Given the description of an element on the screen output the (x, y) to click on. 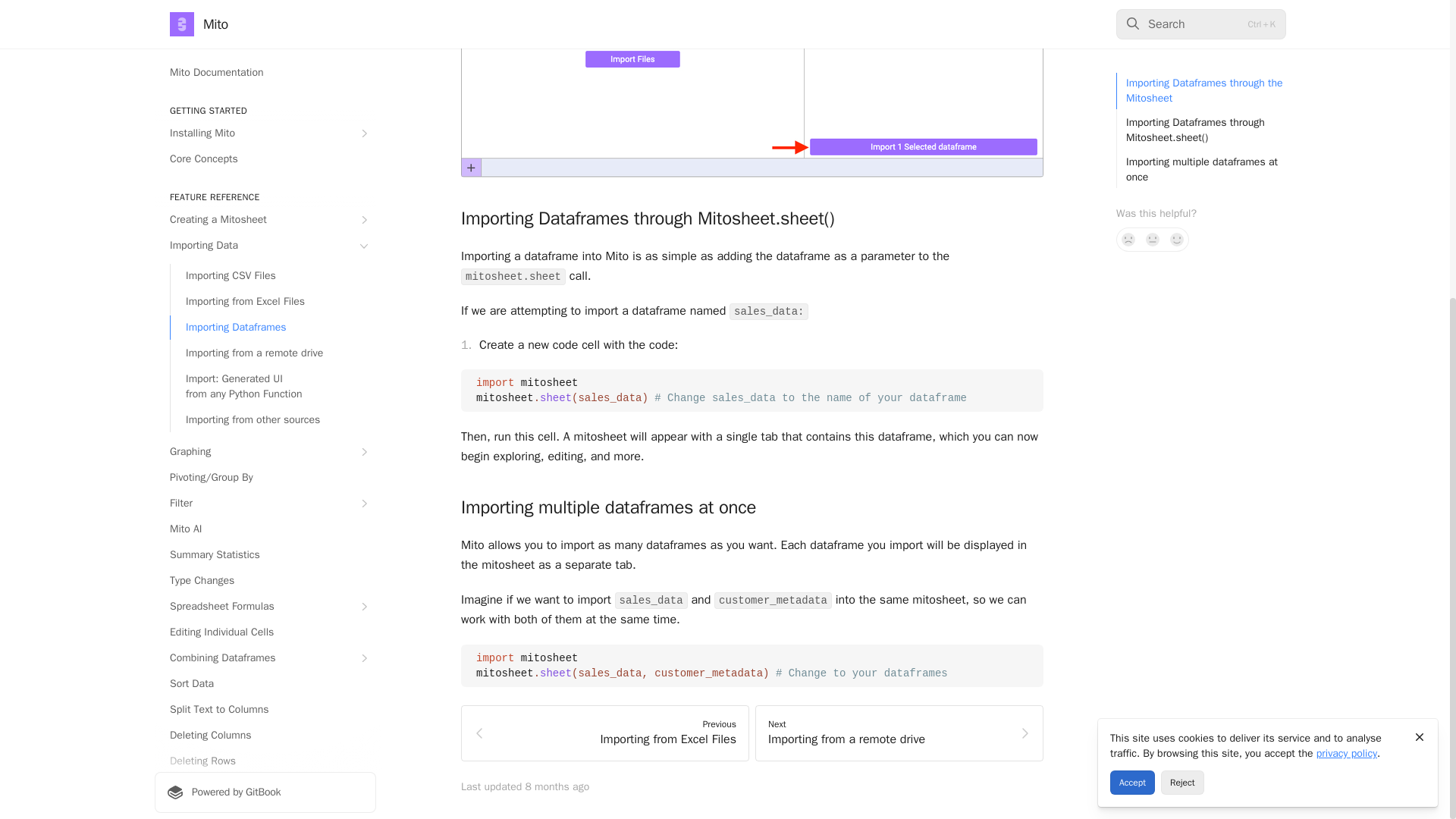
Summary Statistics (264, 85)
Editing Individual Cells (264, 162)
Type Changes (264, 111)
Close (1419, 267)
Filter (264, 33)
Combining Dataframes (264, 188)
Mito AI (264, 59)
Spreadsheet Formulas (264, 137)
